Given the description of an element on the screen output the (x, y) to click on. 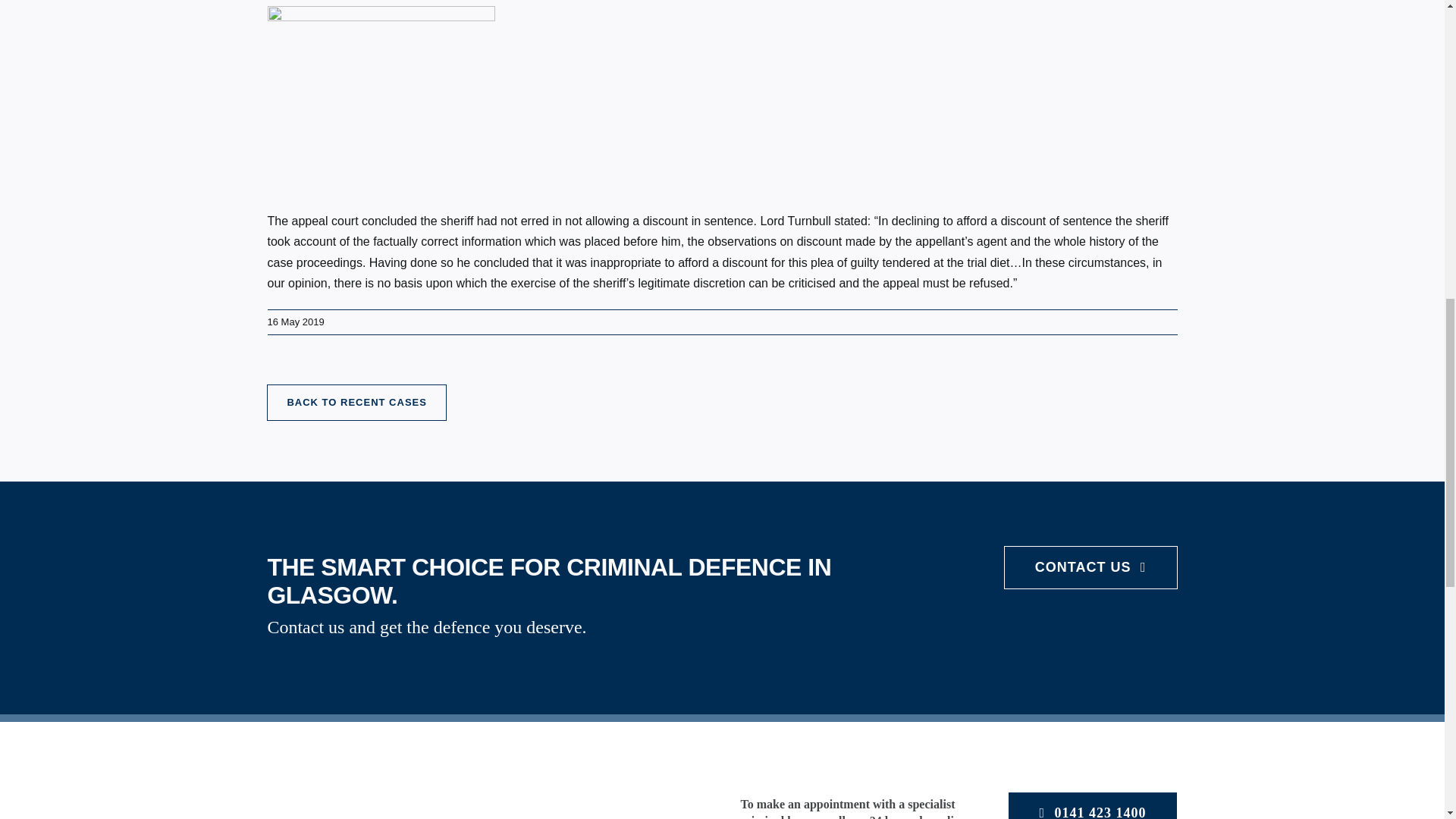
kilcoyne-company-logo (456, 796)
